Given the description of an element on the screen output the (x, y) to click on. 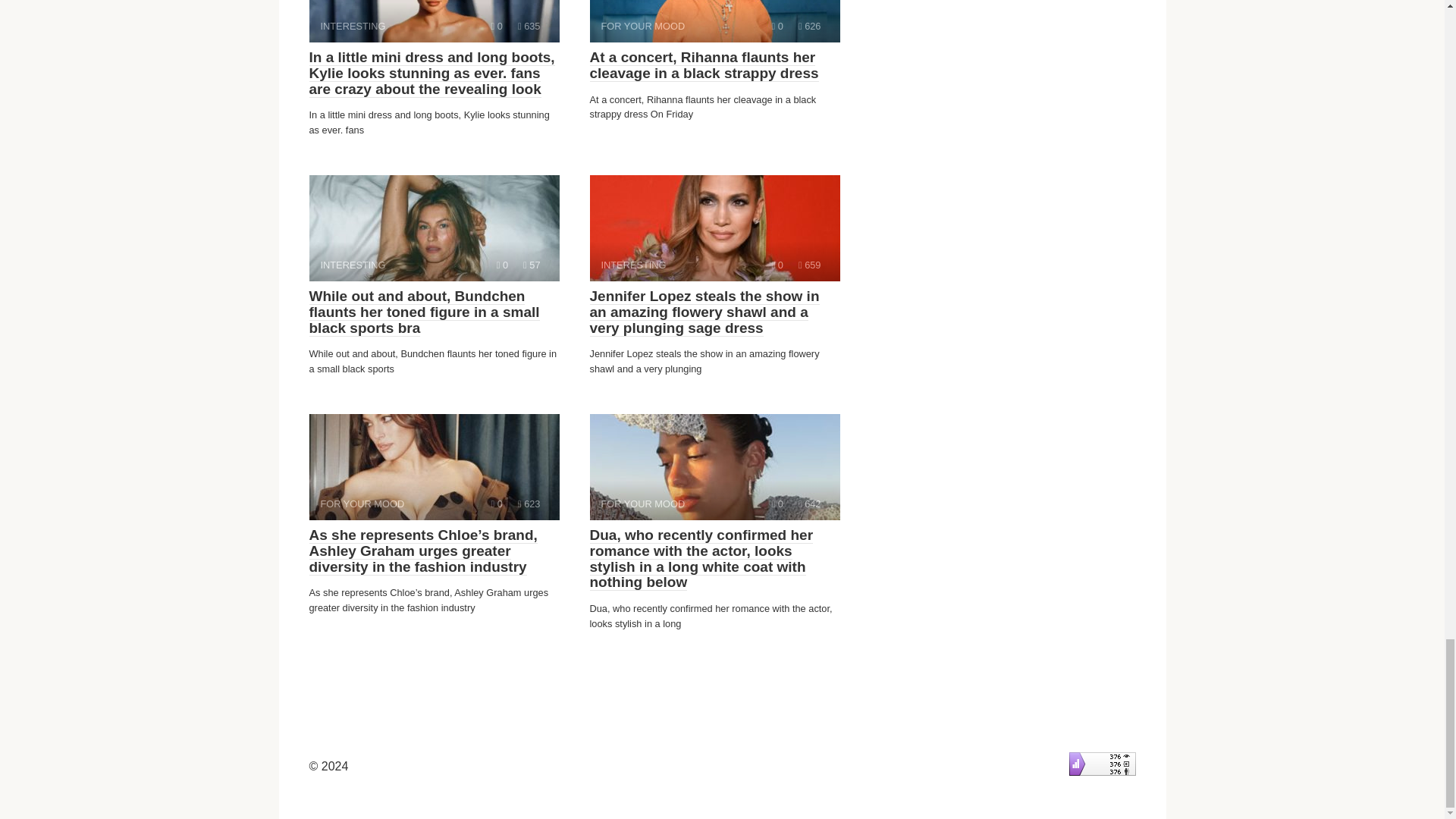
Comments (502, 265)
Views (529, 503)
Comments (777, 503)
Comments (714, 21)
Views (777, 265)
